Given the description of an element on the screen output the (x, y) to click on. 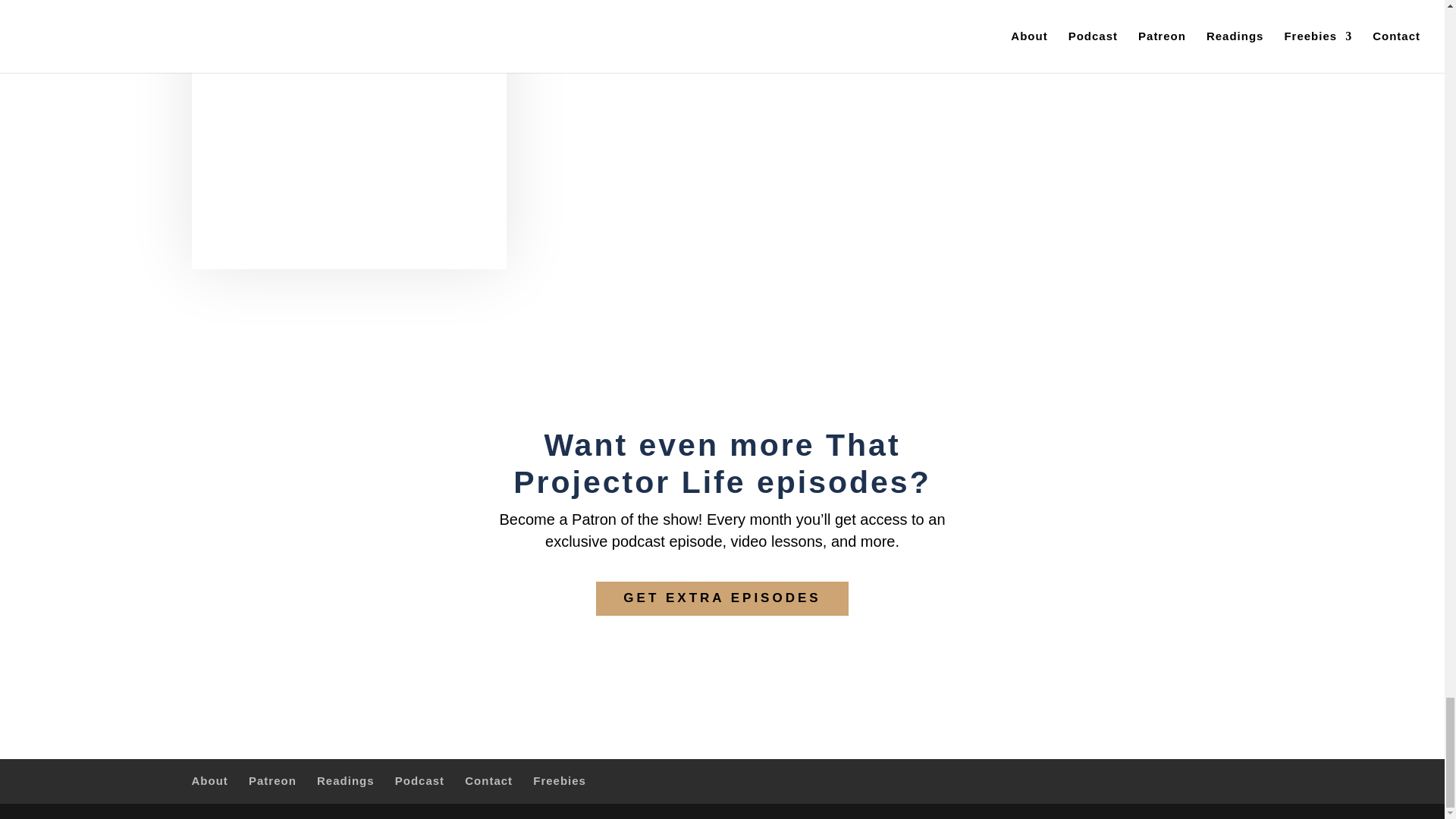
About (208, 780)
Readings (345, 780)
Freebies (559, 780)
Contact (488, 780)
GET EXTRA EPISODES (721, 598)
Patreon (272, 780)
Ardelia Lee 2 (347, 134)
Podcast (419, 780)
